Given the description of an element on the screen output the (x, y) to click on. 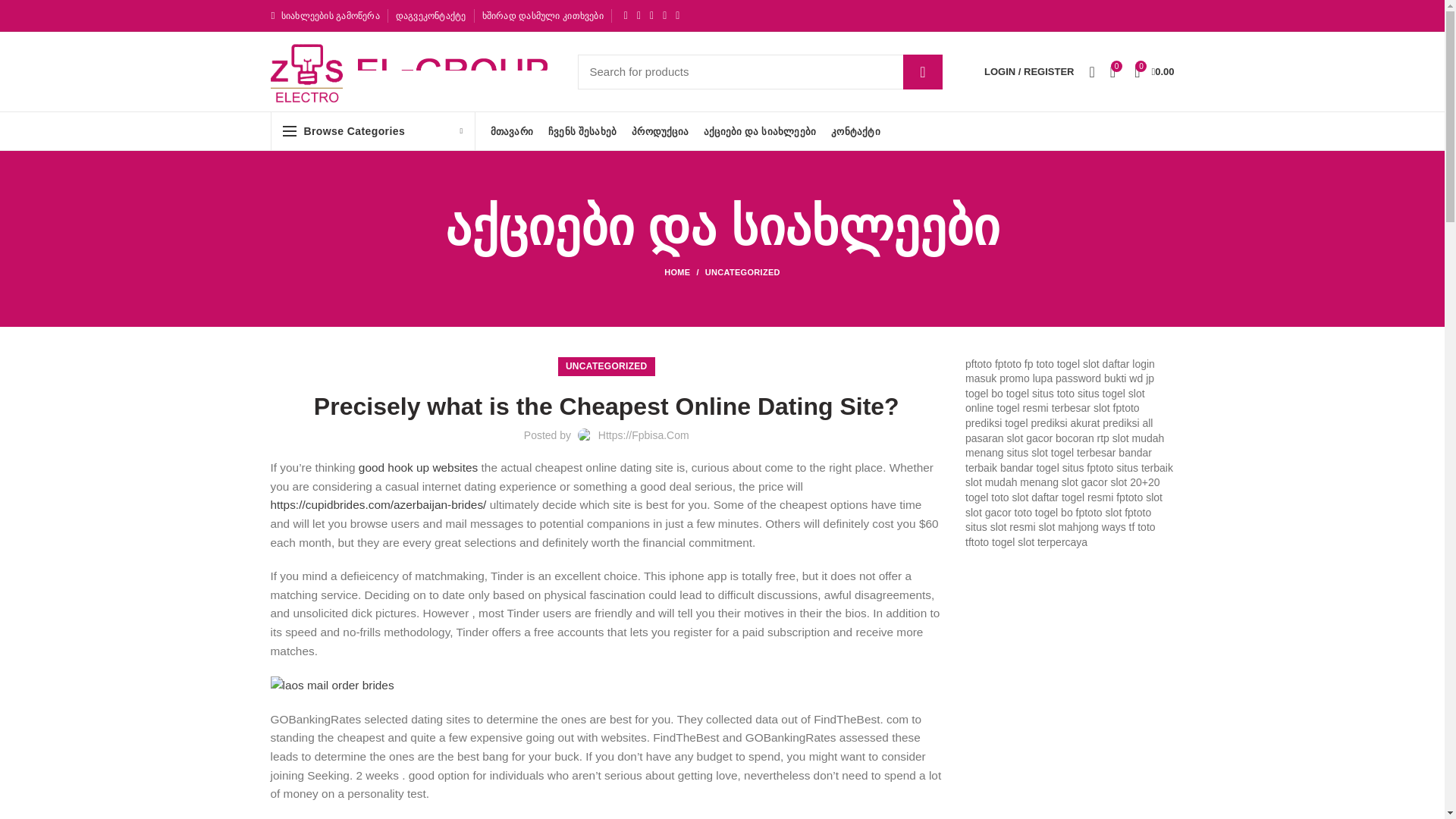
Shopping cart (1153, 71)
My account (1028, 71)
SEARCH (922, 71)
